Given the description of an element on the screen output the (x, y) to click on. 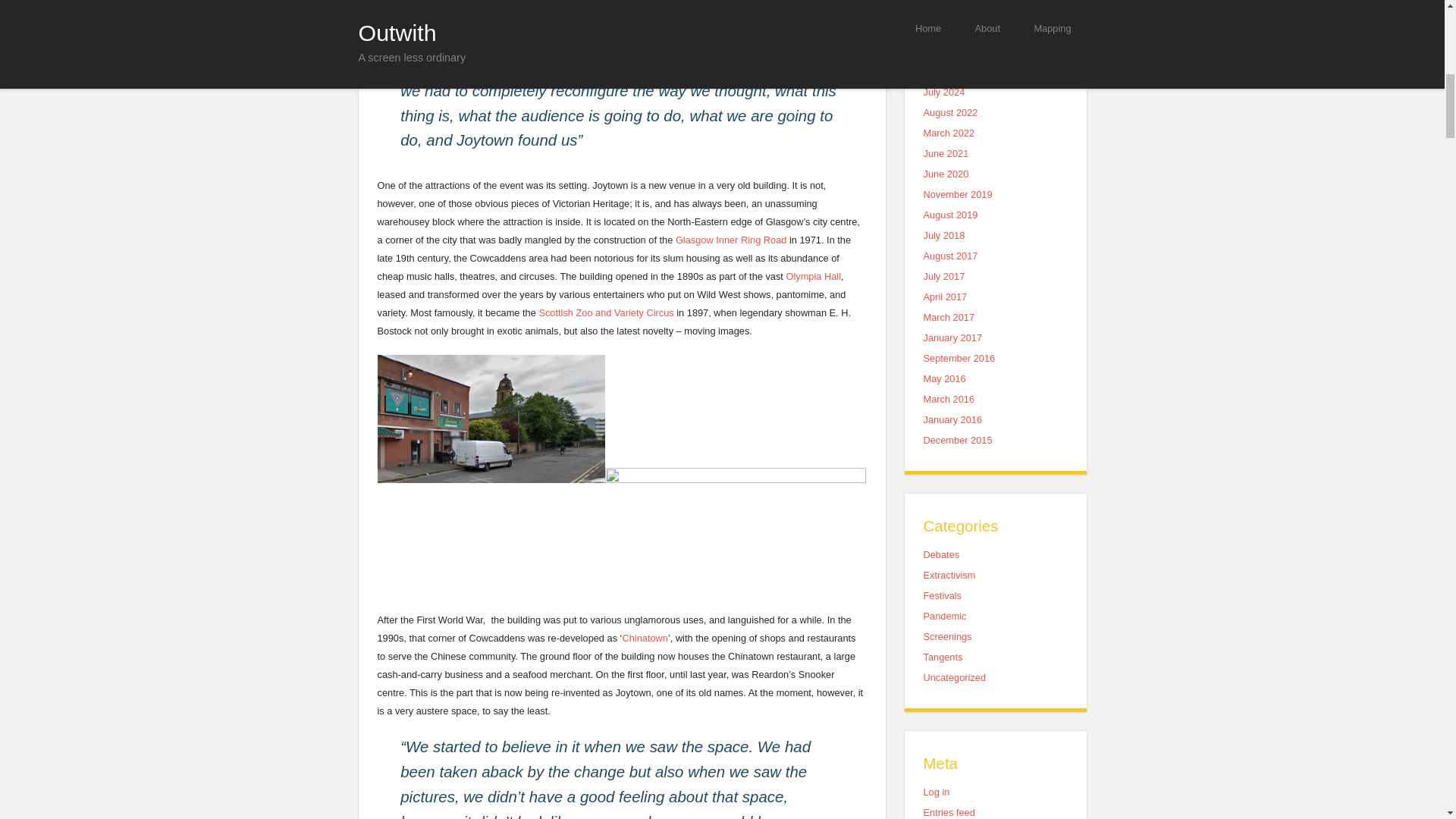
Chinatown (643, 637)
Olympia Hall (813, 276)
Scottish Zoo and Variety Circus (605, 312)
Glasgow Inner Ring Road (731, 239)
